Given the description of an element on the screen output the (x, y) to click on. 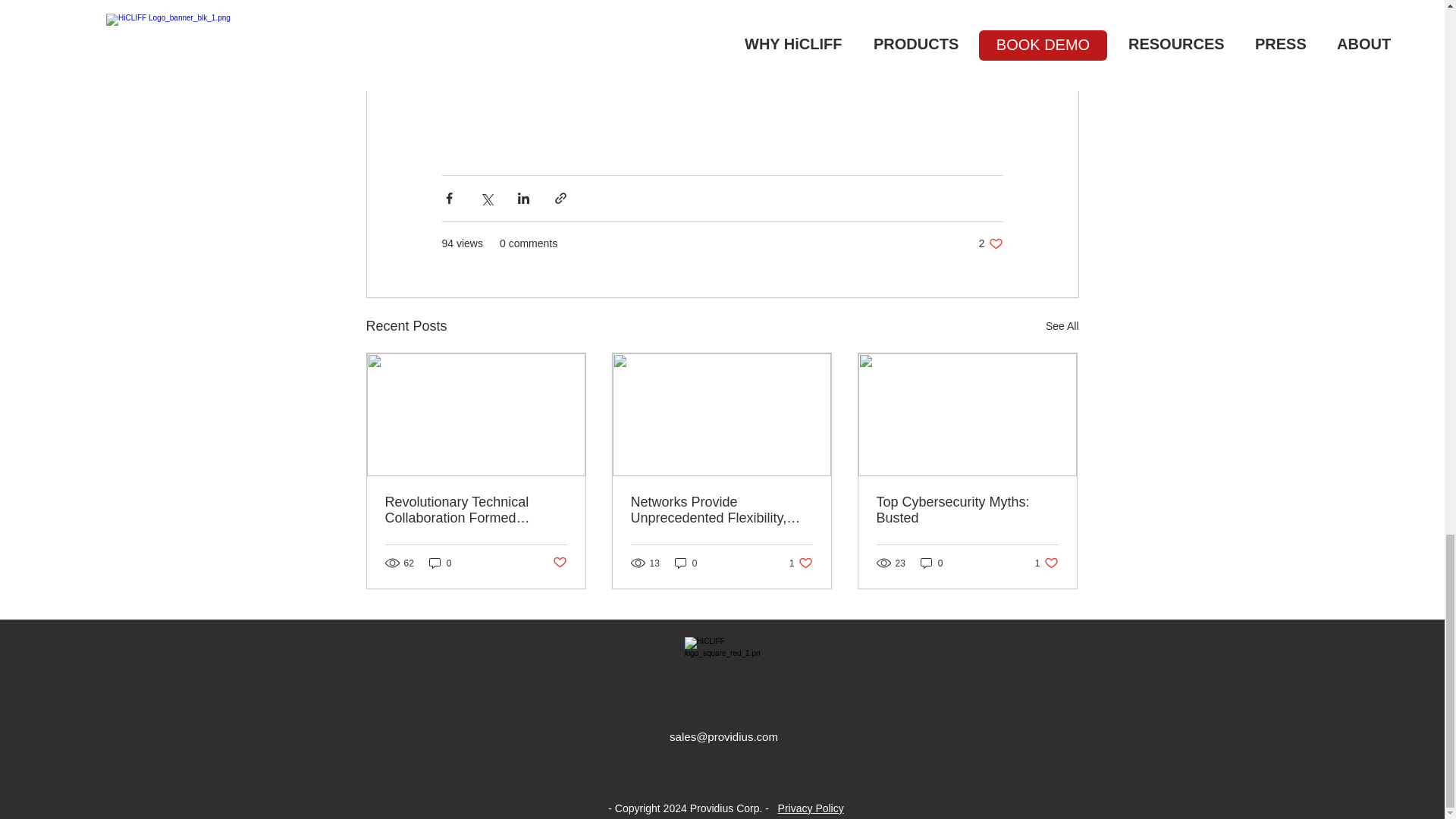
Top Cybersecurity Myths: Busted (967, 510)
Post not marked as liked (558, 562)
0 (685, 563)
0 (931, 563)
0 (440, 563)
See All (1061, 326)
Privacy Policy (990, 243)
